Given the description of an element on the screen output the (x, y) to click on. 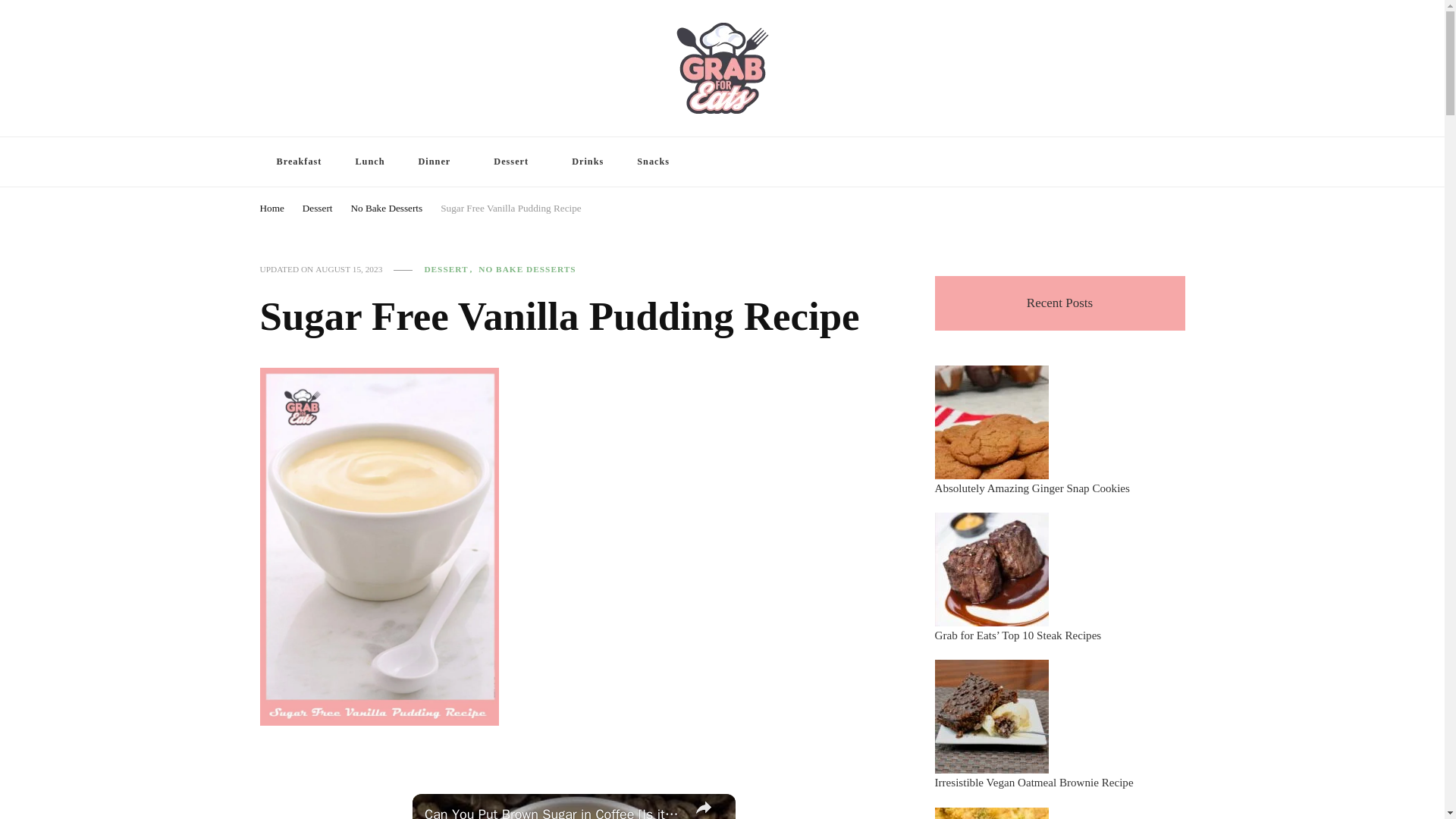
No Bake Desserts (386, 206)
Lunch (369, 161)
share (703, 806)
Dessert (317, 206)
DESSERT (449, 269)
Drinks (587, 161)
Breakfast (298, 161)
Dessert (515, 161)
Sugar Free Vanilla Pudding Recipe (510, 206)
Snacks (652, 161)
AUGUST 15, 2023 (348, 269)
Dinner (439, 161)
NO BAKE DESSERTS (527, 269)
Search (1148, 163)
Home (271, 206)
